Given the description of an element on the screen output the (x, y) to click on. 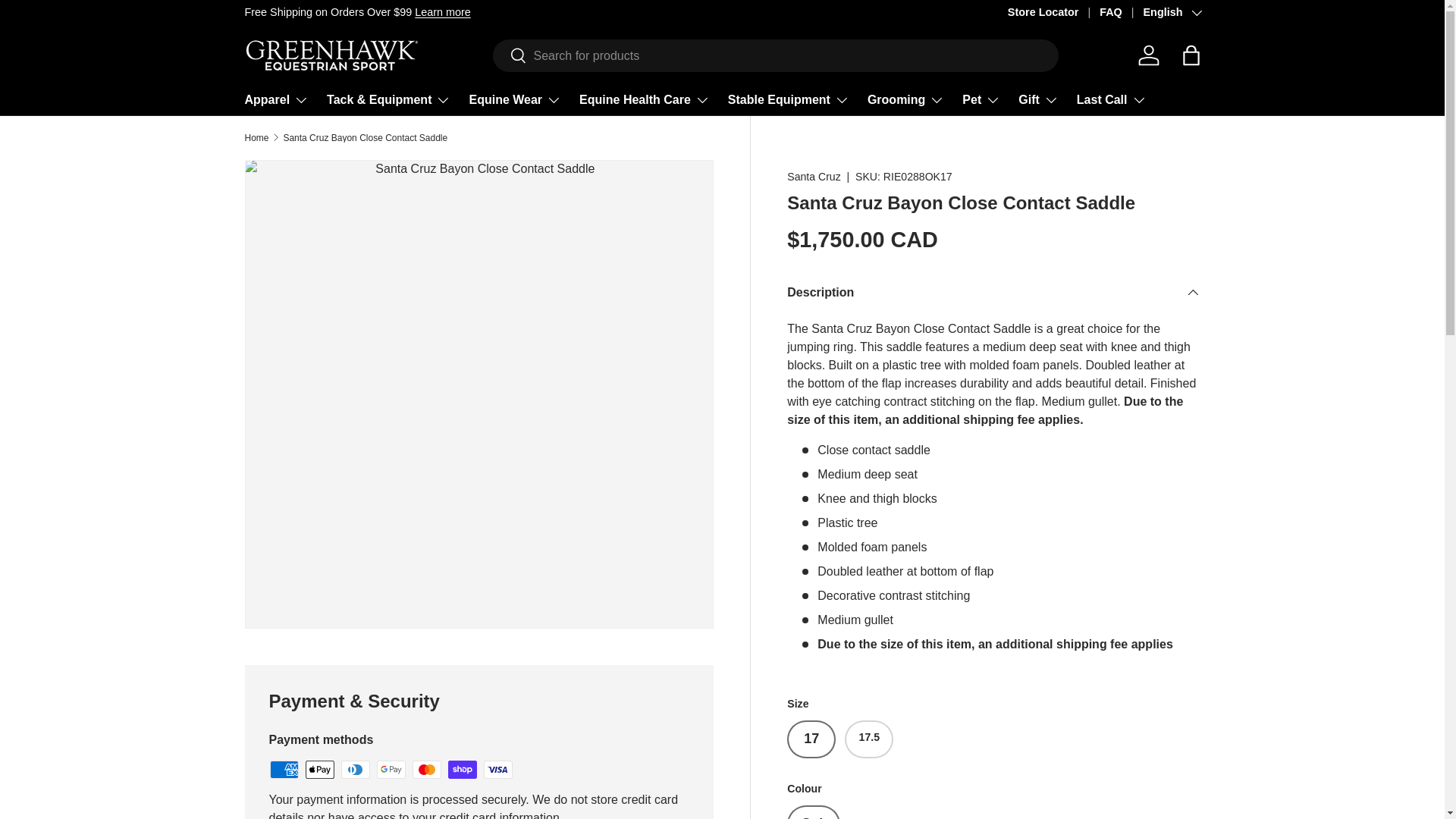
Store Locator (1053, 12)
Search (510, 56)
Bag (1190, 55)
Log in (1147, 55)
FAQ (1120, 12)
English (1170, 12)
Skip to content (69, 21)
Apparel (276, 100)
